Given the description of an element on the screen output the (x, y) to click on. 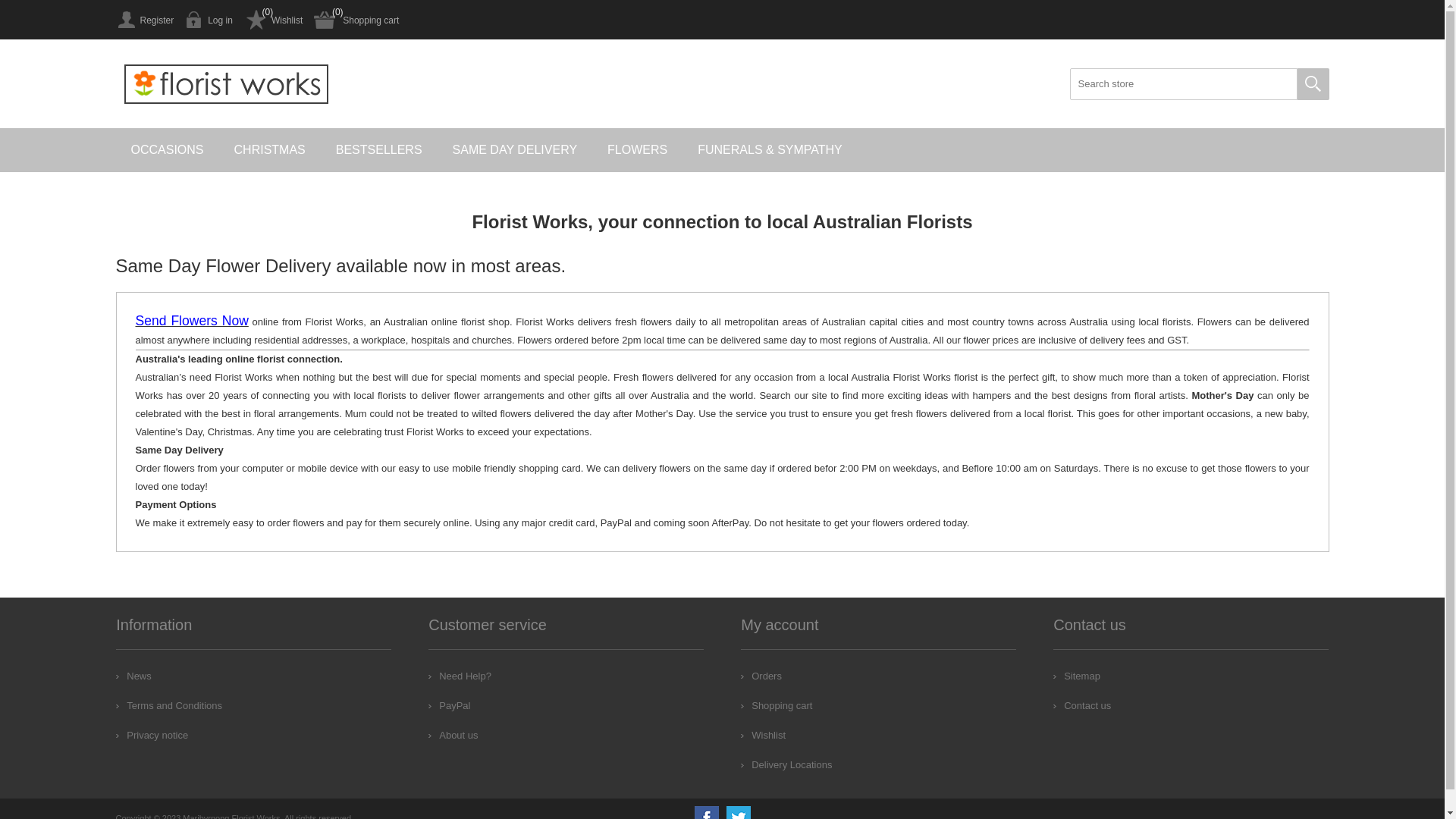
Log in Element type: text (208, 19)
CHRISTMAS Element type: text (269, 150)
Need Help? Element type: text (459, 675)
Register Element type: text (144, 19)
FUNERALS & SYMPATHY Element type: text (769, 150)
PayPal Element type: text (449, 705)
About us Element type: text (452, 734)
SAME DAY DELIVERY Element type: text (515, 150)
Wishlist Element type: text (762, 734)
OCCASIONS Element type: text (166, 150)
Search Element type: text (1312, 84)
Shopping cart Element type: text (355, 19)
Terms and Conditions Element type: text (169, 705)
Sitemap Element type: text (1076, 675)
Wishlist Element type: text (273, 19)
Shopping cart Element type: text (776, 705)
News Element type: text (133, 675)
Contact us Element type: text (1081, 705)
Send Flowers Now Element type: text (190, 321)
BESTSELLERS Element type: text (378, 150)
Delivery Locations Element type: text (785, 764)
Privacy notice Element type: text (152, 734)
Orders Element type: text (760, 675)
FLOWERS Element type: text (637, 150)
